Given the description of an element on the screen output the (x, y) to click on. 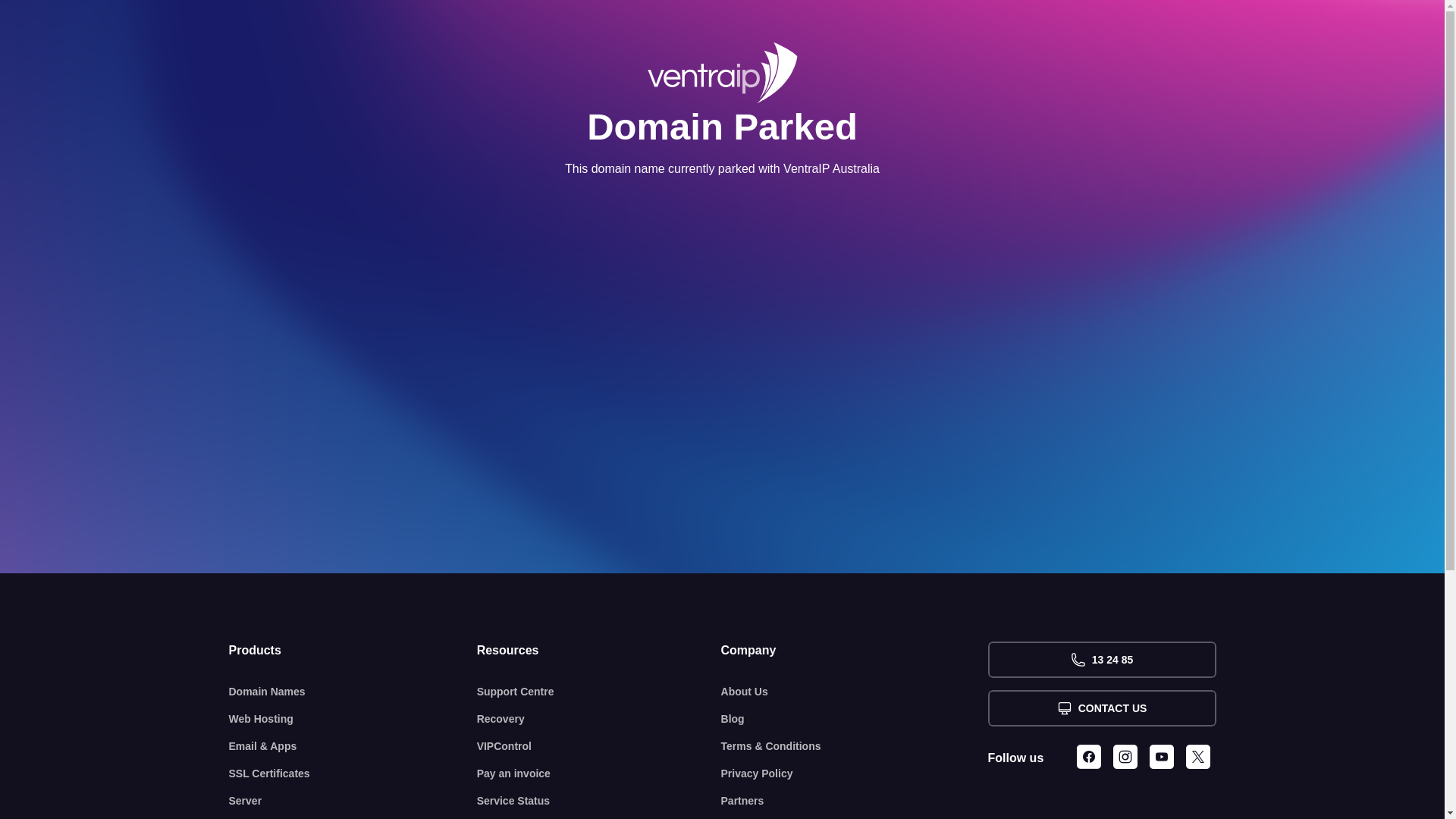
Email & Apps Element type: text (352, 745)
Web Hosting Element type: text (352, 718)
Pay an invoice Element type: text (598, 773)
Service Status Element type: text (598, 800)
Recovery Element type: text (598, 718)
Partners Element type: text (854, 800)
CONTACT US Element type: text (1101, 708)
Server Element type: text (352, 800)
Blog Element type: text (854, 718)
Privacy Policy Element type: text (854, 773)
Domain Names Element type: text (352, 691)
SSL Certificates Element type: text (352, 773)
VIPControl Element type: text (598, 745)
13 24 85 Element type: text (1101, 659)
Terms & Conditions Element type: text (854, 745)
Support Centre Element type: text (598, 691)
About Us Element type: text (854, 691)
